Given the description of an element on the screen output the (x, y) to click on. 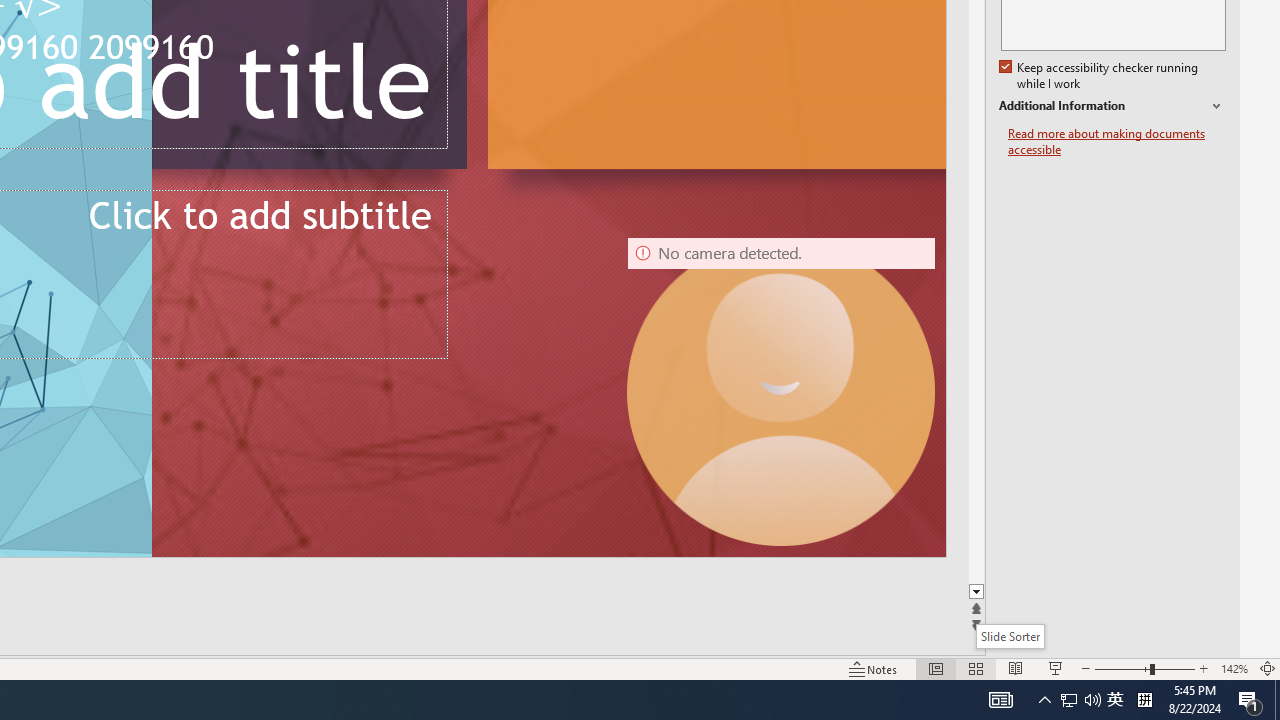
Camera 16, No camera detected. (780, 391)
